Given the description of an element on the screen output the (x, y) to click on. 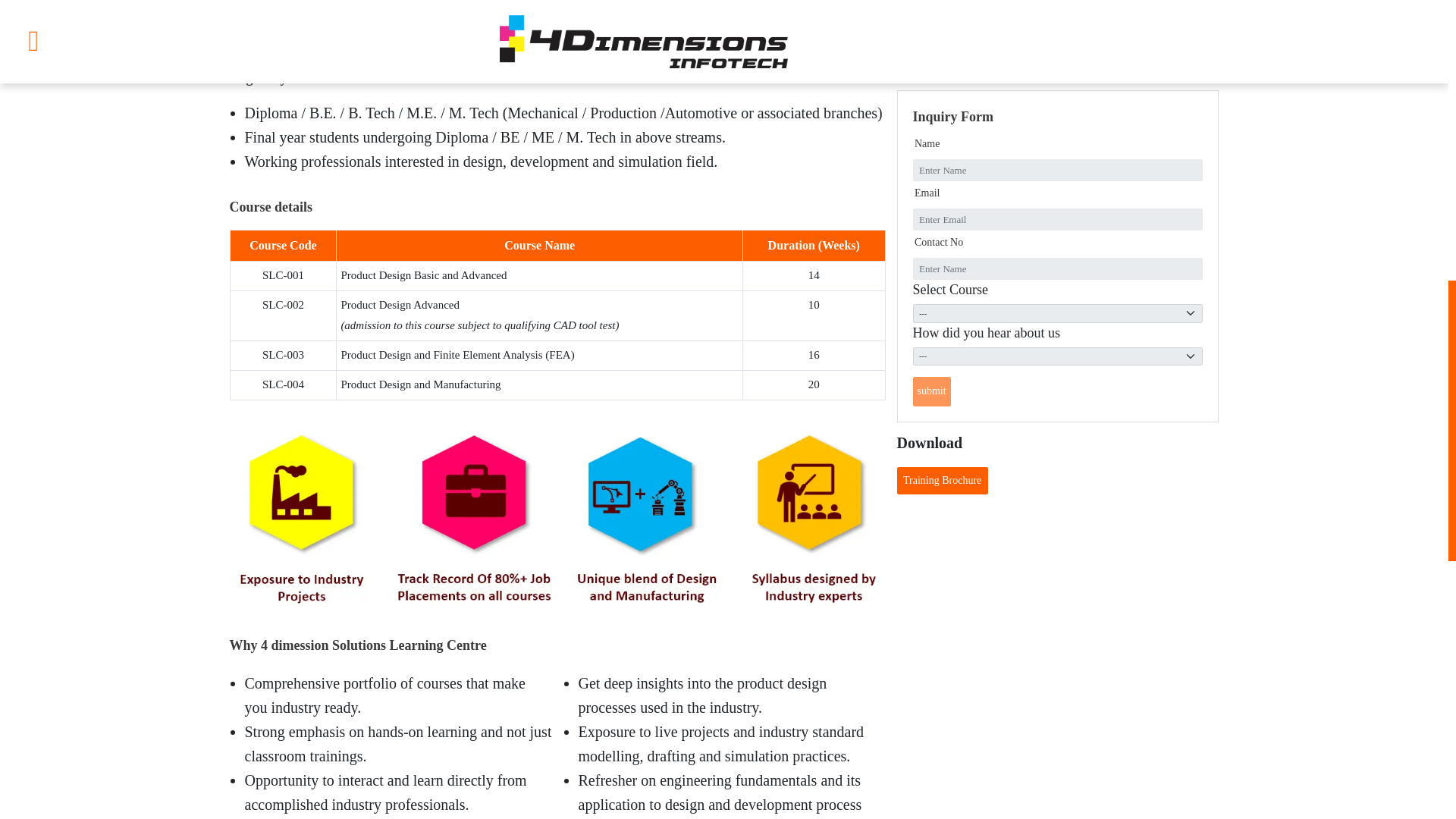
Training Brochure (941, 480)
submit (931, 391)
submit (931, 391)
